Given the description of an element on the screen output the (x, y) to click on. 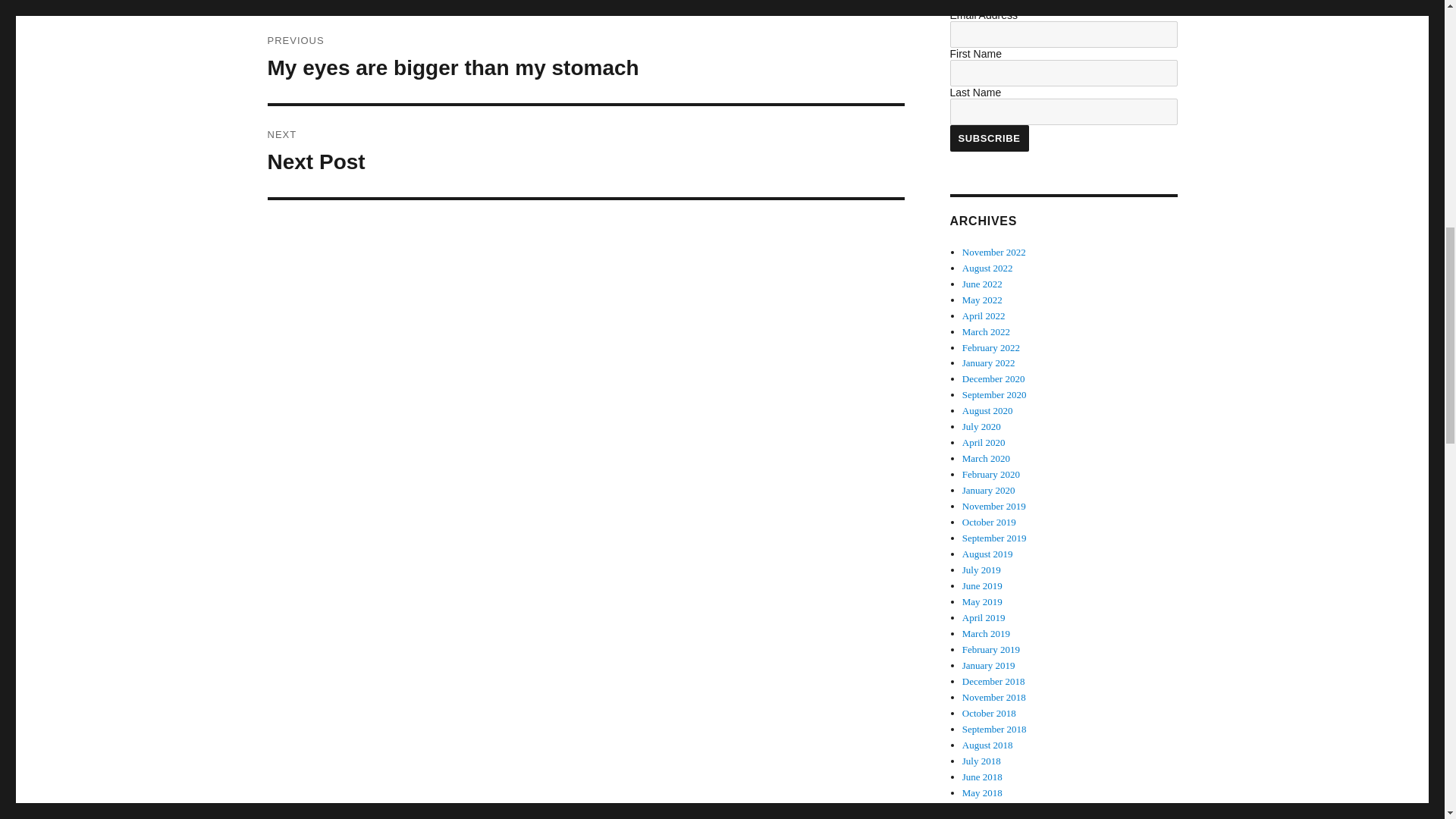
February 2022 (991, 346)
August 2022 (585, 151)
November 2022 (987, 267)
Subscribe (994, 251)
Subscribe (988, 138)
March 2022 (585, 57)
May 2022 (988, 138)
June 2022 (986, 331)
April 2022 (982, 299)
